Given the description of an element on the screen output the (x, y) to click on. 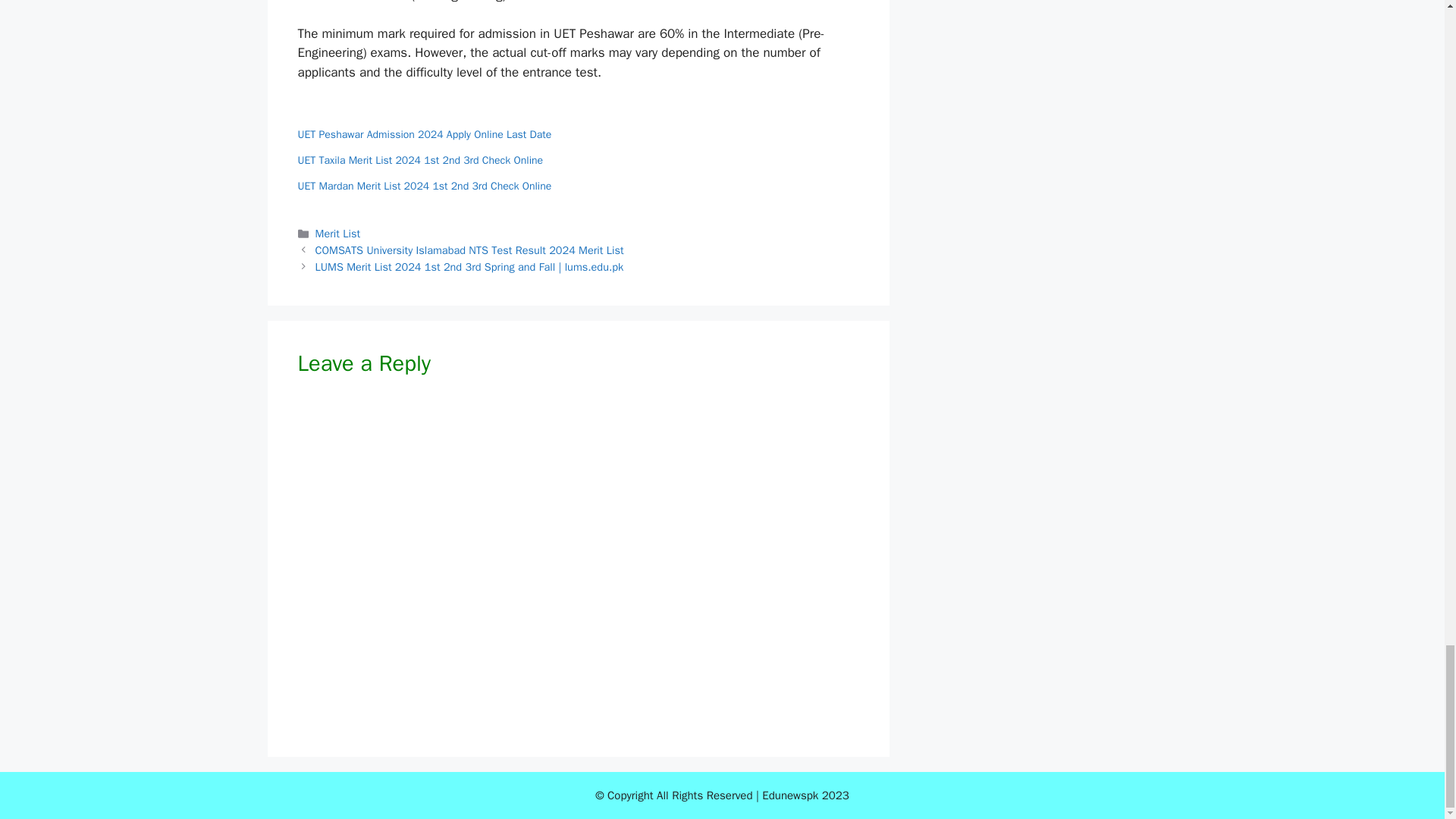
COMSATS University Islamabad NTS Test Result 2024 Merit List (469, 250)
UET Peshawar Admission 2024 Apply Online Last Date (424, 133)
Merit List (337, 233)
UET Peshawar Admission 2024 Apply Online Last Date (424, 133)
UET Mardan Merit List 2024 1st 2nd 3rd Check Online (424, 185)
UET Taxila Merit List 2024 1st 2nd 3rd Check Online (420, 160)
UET Mardan Merit List 2024 1st 2nd 3rd Check Online (424, 185)
UET Taxila Merit List 2024 1st 2nd 3rd Check Online (420, 160)
